Given the description of an element on the screen output the (x, y) to click on. 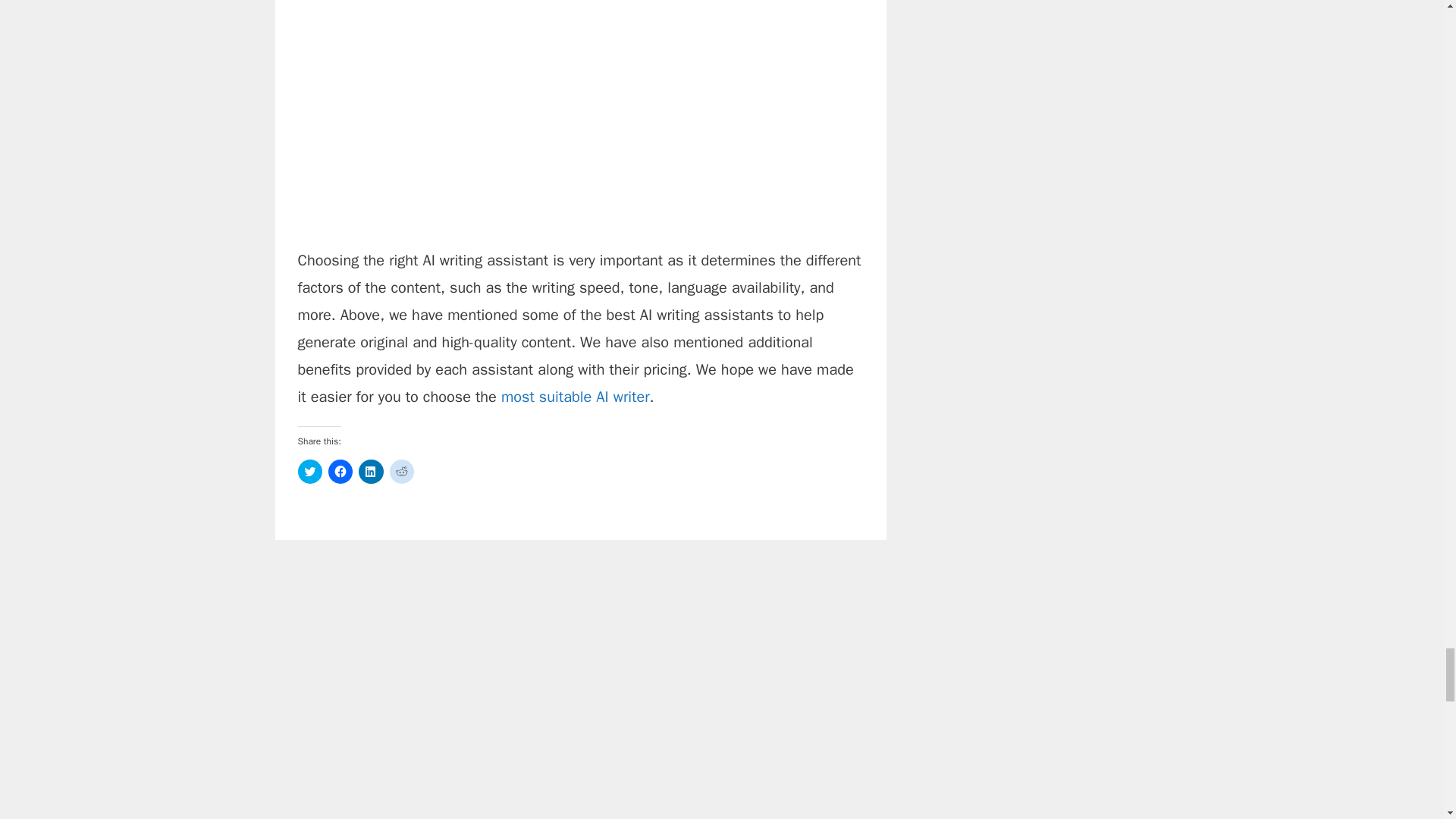
Click to share on LinkedIn (370, 471)
Click to share on Reddit (401, 471)
Click to share on Facebook (340, 471)
Click to share on Twitter (309, 471)
